Given the description of an element on the screen output the (x, y) to click on. 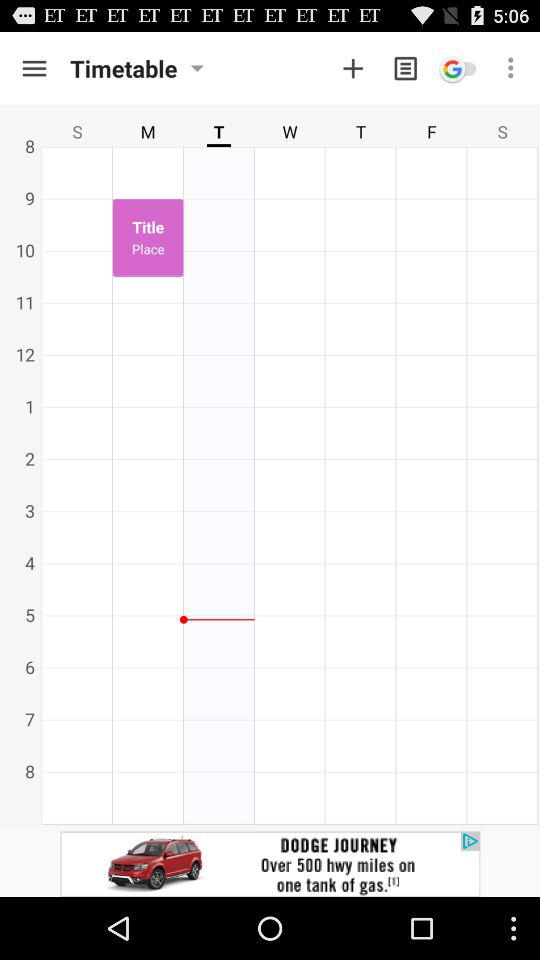
go to additional option (353, 68)
